Given the description of an element on the screen output the (x, y) to click on. 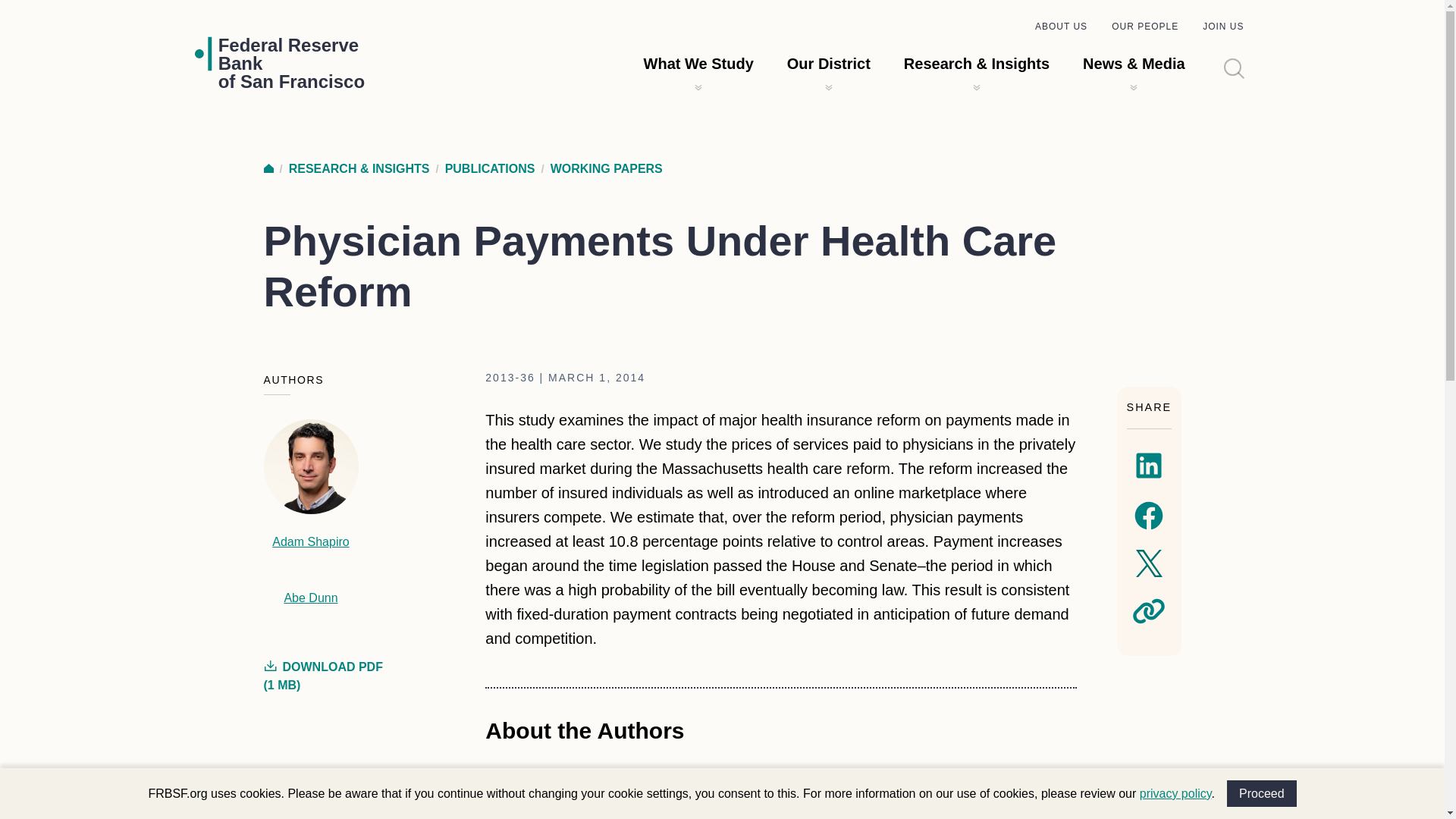
ABOUT US (291, 63)
OUR PEOPLE (1061, 26)
Our District (1144, 26)
HOME (828, 63)
What We Study (268, 167)
Skip to content (698, 63)
Proceed (1175, 793)
JOIN US (1262, 793)
